Given the description of an element on the screen output the (x, y) to click on. 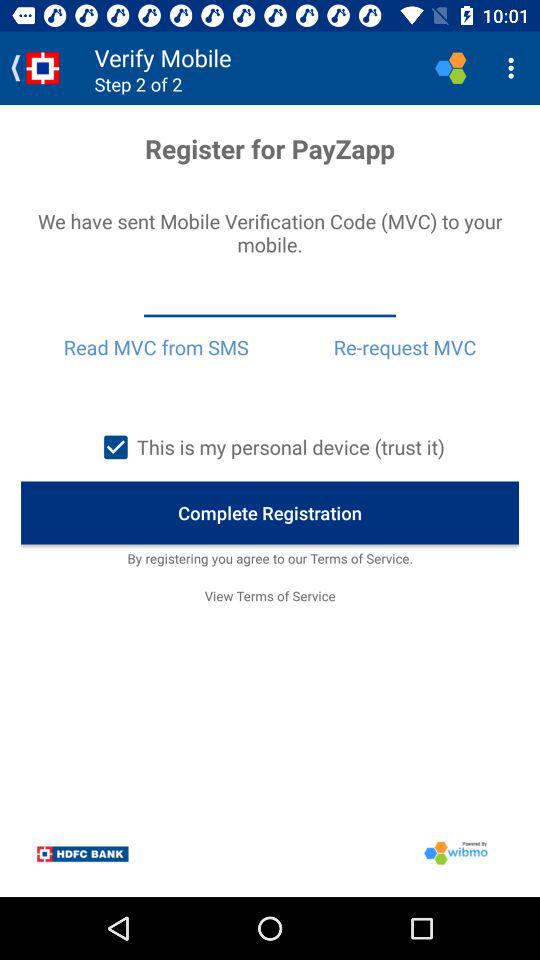
press the item above this is my (155, 347)
